Given the description of an element on the screen output the (x, y) to click on. 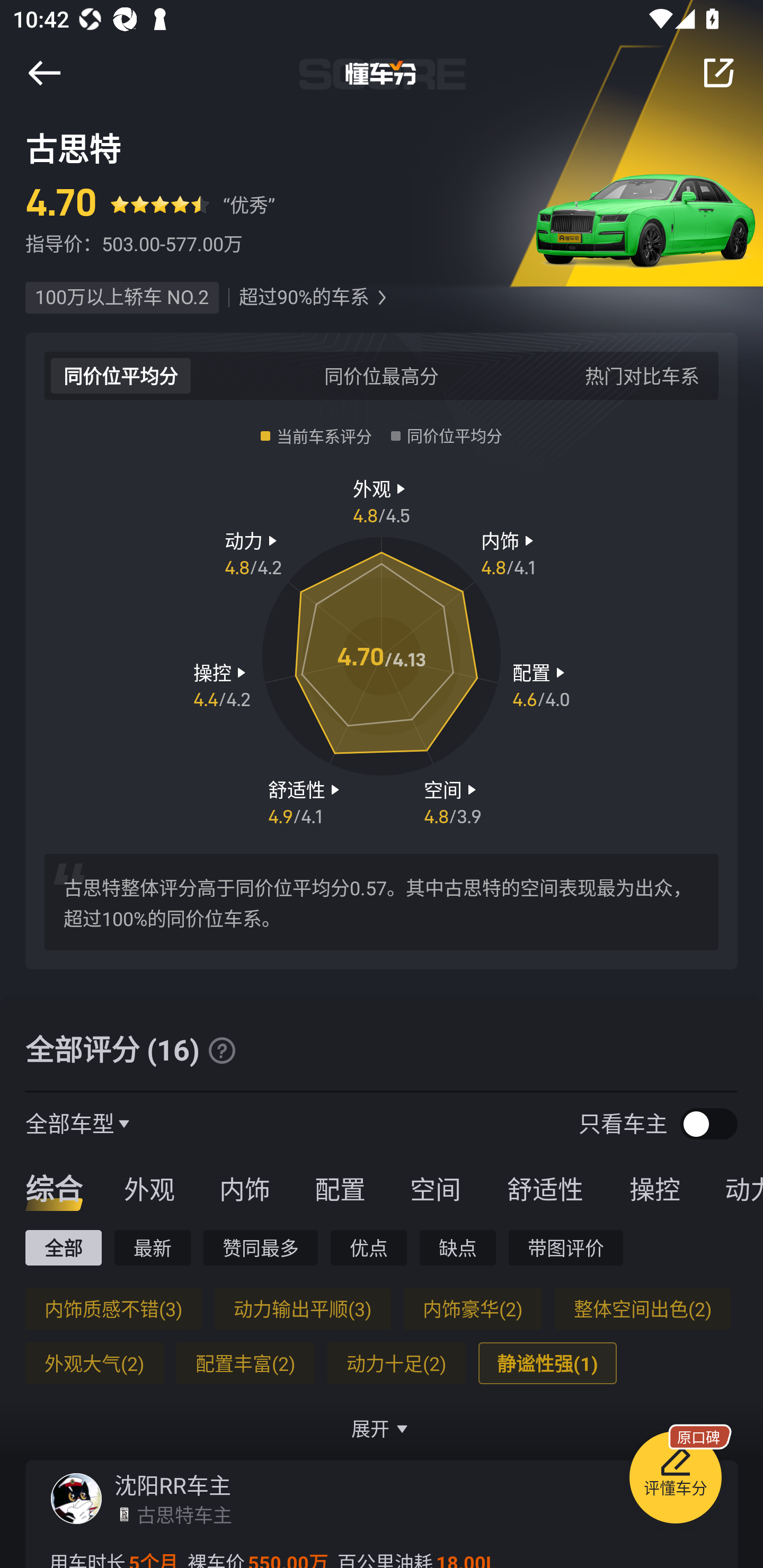
 (44, 72)
 (718, 72)
超过90%的车系 (303, 297)
 (381, 297)
同价位平均分 (120, 375)
同价位最高分 (381, 375)
热门对比车系 (641, 375)
外观  4.8 / 4.5 (381, 500)
动力  4.8 / 4.2 (252, 552)
内饰  4.8 / 4.1 (509, 552)
操控  4.4 / 4.2 (221, 685)
配置  4.6 / 4.0 (540, 685)
舒适性  4.9 / 4.1 (305, 801)
空间  4.8 / 3.9 (452, 801)
 (222, 1050)
全部车型 (69, 1123)
外观 (148, 1188)
内饰 (244, 1188)
配置 (339, 1188)
空间 (434, 1188)
舒适性 (544, 1188)
操控 (654, 1188)
全部 (63, 1247)
最新 (152, 1247)
赞同最多 (260, 1247)
优点 (368, 1247)
缺点 (457, 1247)
带图评价 (565, 1247)
内饰质感不错(3) (113, 1308)
动力输出平顺(3) (302, 1308)
内饰豪华(2) (472, 1308)
整体空间出色(2) (642, 1308)
外观大气(2) (94, 1363)
配置丰富(2) (245, 1363)
动力十足(2) (396, 1363)
静谧性强(1) (547, 1363)
展开  (381, 1428)
 评懂车分 原口碑 (675, 1480)
沈阳RR车主 (172, 1485)
古思特车主 (183, 1514)
